Given the description of an element on the screen output the (x, y) to click on. 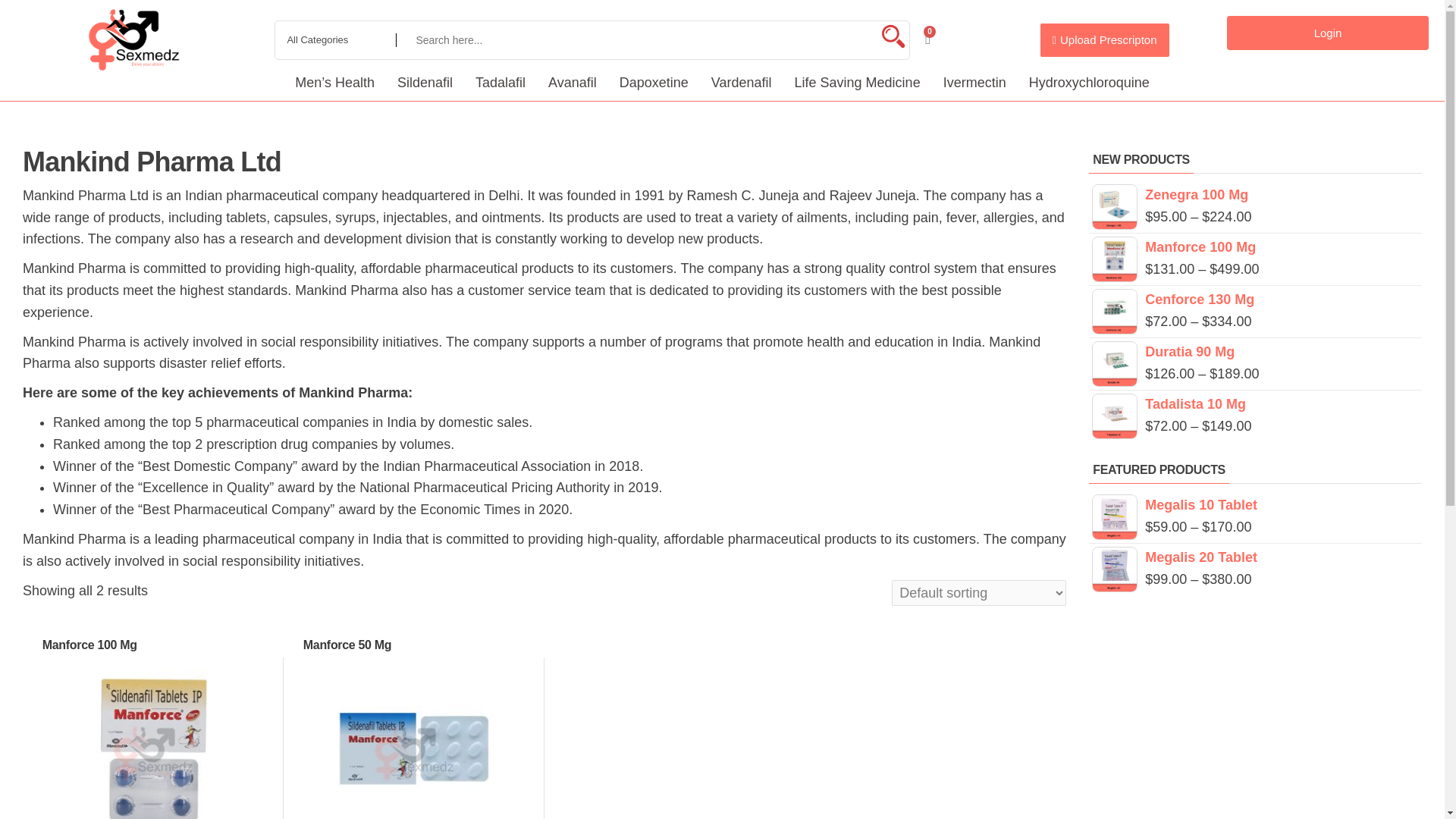
Sildenafil (424, 82)
Megalis 10 Tablet (1255, 505)
Tadalafil (500, 82)
Ivermectin (974, 82)
Manforce 100 Mg (1255, 247)
Cenforce 130 Mg (1255, 300)
Duratia 90 Mg (1255, 352)
Upload Prescripton (1105, 39)
Dapoxetine (654, 82)
Vardenafil (741, 82)
Hydroxychloroquine (1088, 82)
Life Saving Medicine (857, 82)
Login (1327, 32)
Tadalista 10 Mg (1255, 404)
Avanafil (572, 82)
